Given the description of an element on the screen output the (x, y) to click on. 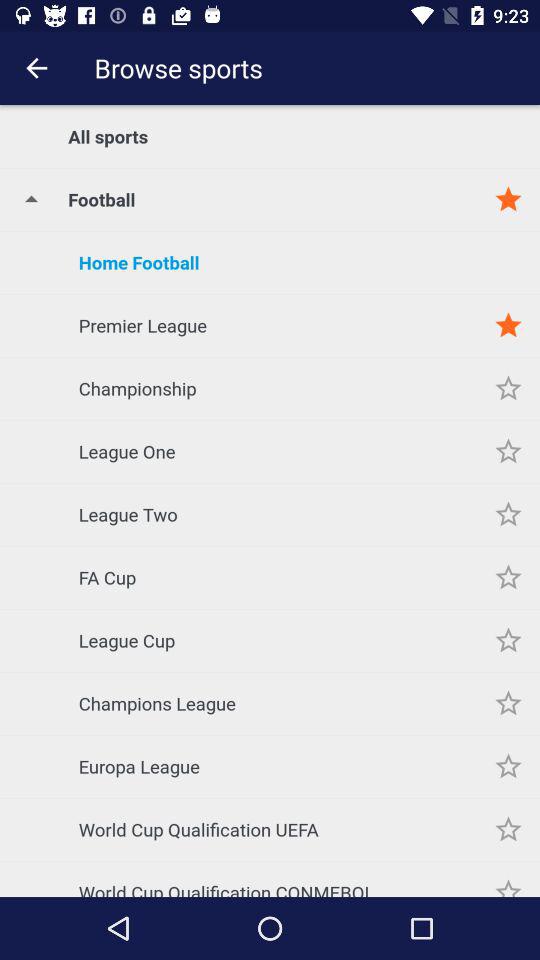
save as favorites option (508, 451)
